Given the description of an element on the screen output the (x, y) to click on. 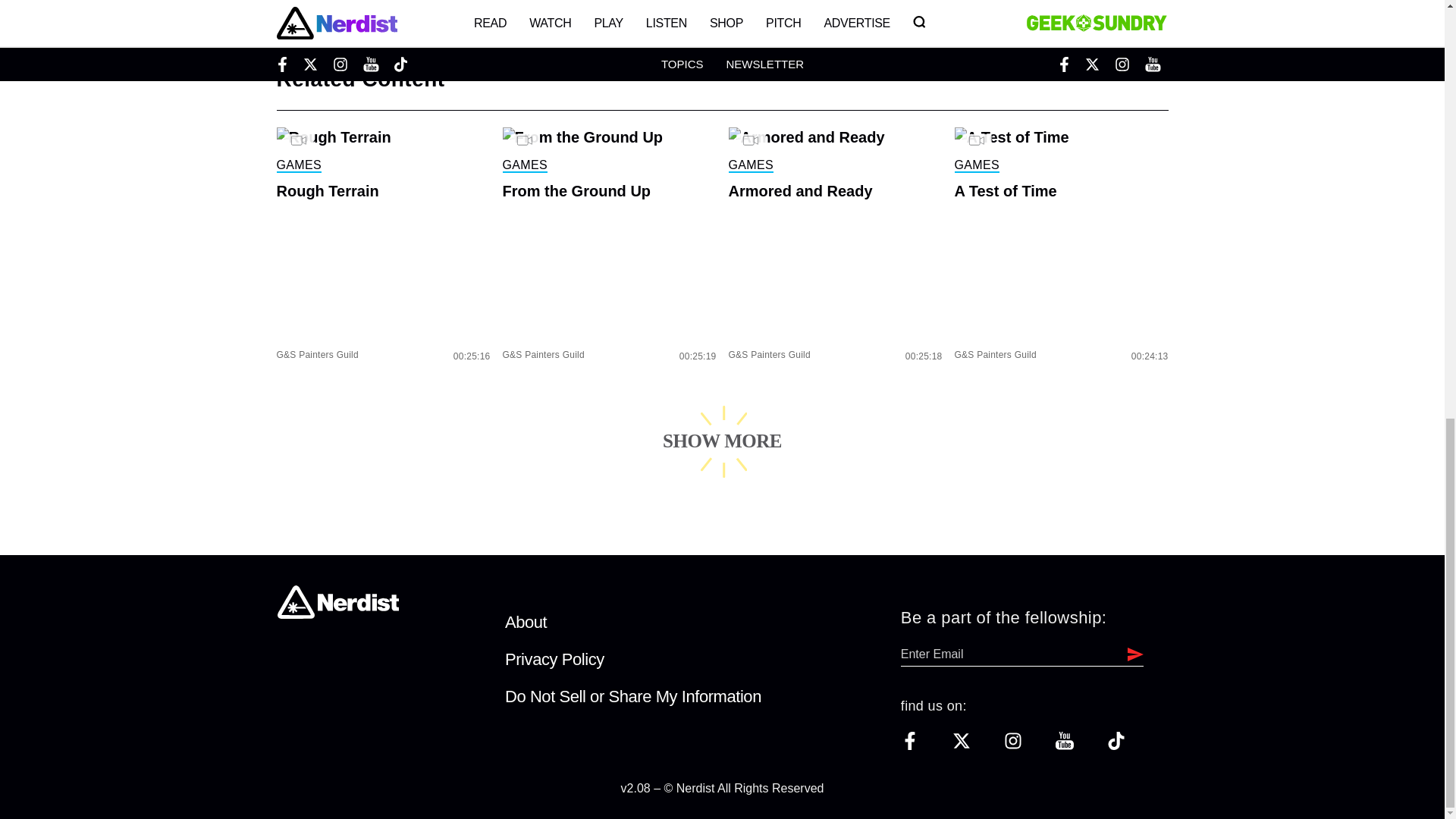
Sign Up (1131, 653)
From the Ground Up (609, 190)
GAMES (298, 165)
GAMES (524, 165)
Rough Terrain (382, 190)
